Given the description of an element on the screen output the (x, y) to click on. 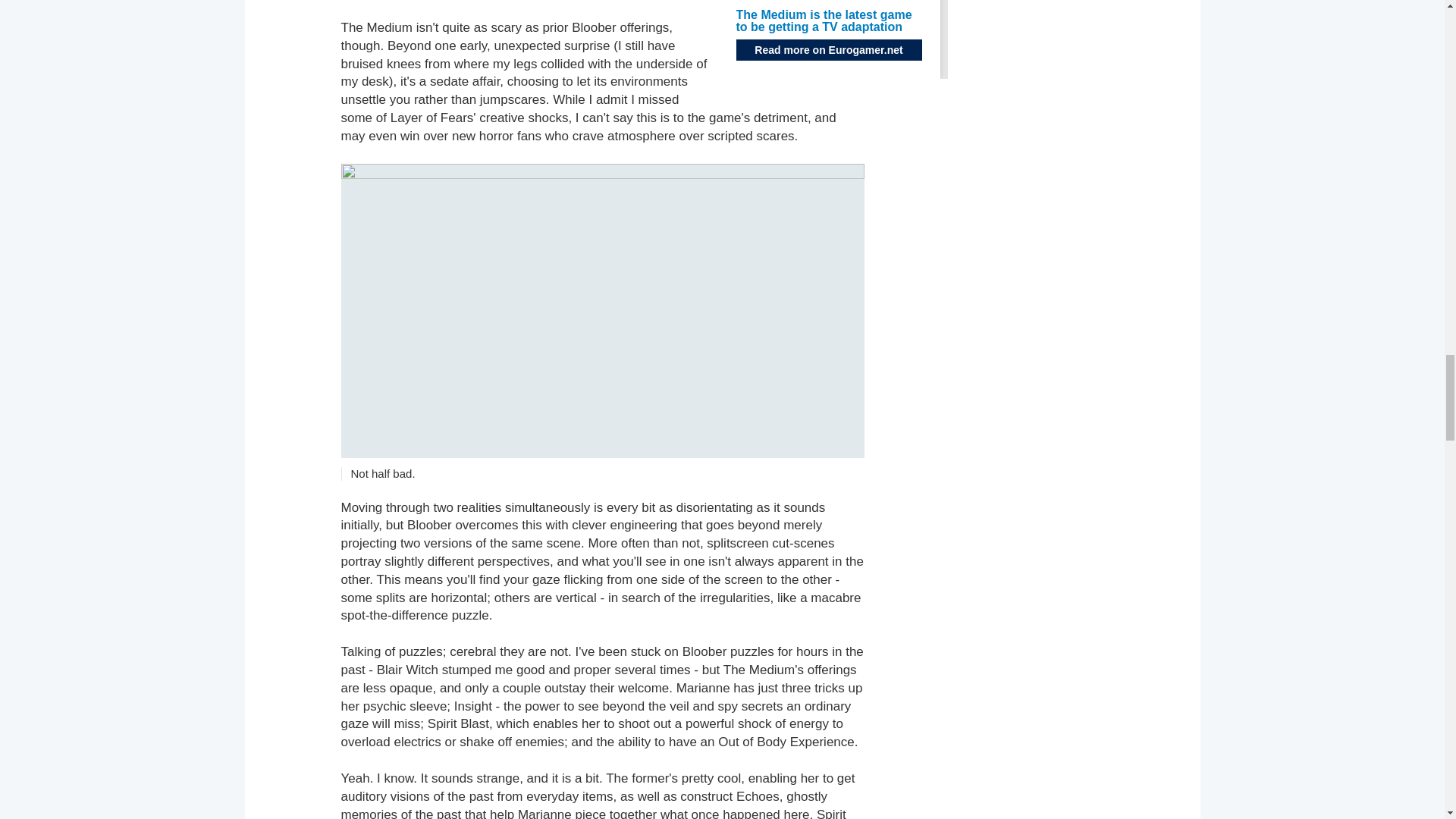
Read more on Eurogamer.net (828, 49)
The Medium is the latest game to be getting a TV adaptation (823, 20)
